Given the description of an element on the screen output the (x, y) to click on. 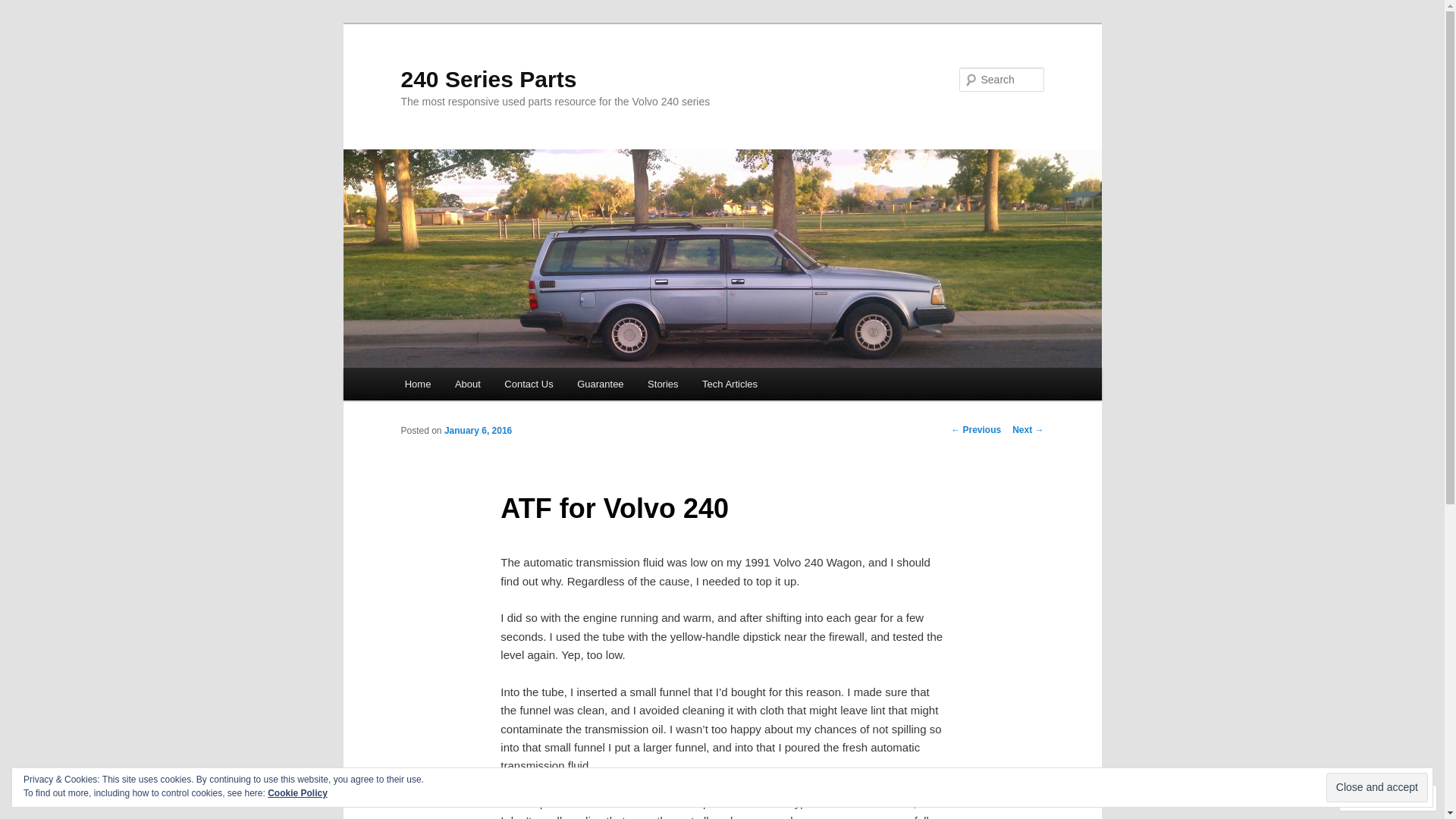
Search Element type: text (24, 8)
240 Series Parts Element type: text (488, 78)
Stories Element type: text (662, 383)
Skip to primary content Element type: text (22, 22)
Home Element type: text (417, 383)
Contact Us Element type: text (528, 383)
About Element type: text (467, 383)
Guarantee Element type: text (599, 383)
Close and accept Element type: text (1376, 787)
Follow Element type: text (1373, 797)
Tech Articles Element type: text (729, 383)
January 6, 2016 Element type: text (477, 430)
Cookie Policy Element type: text (297, 792)
